Given the description of an element on the screen output the (x, y) to click on. 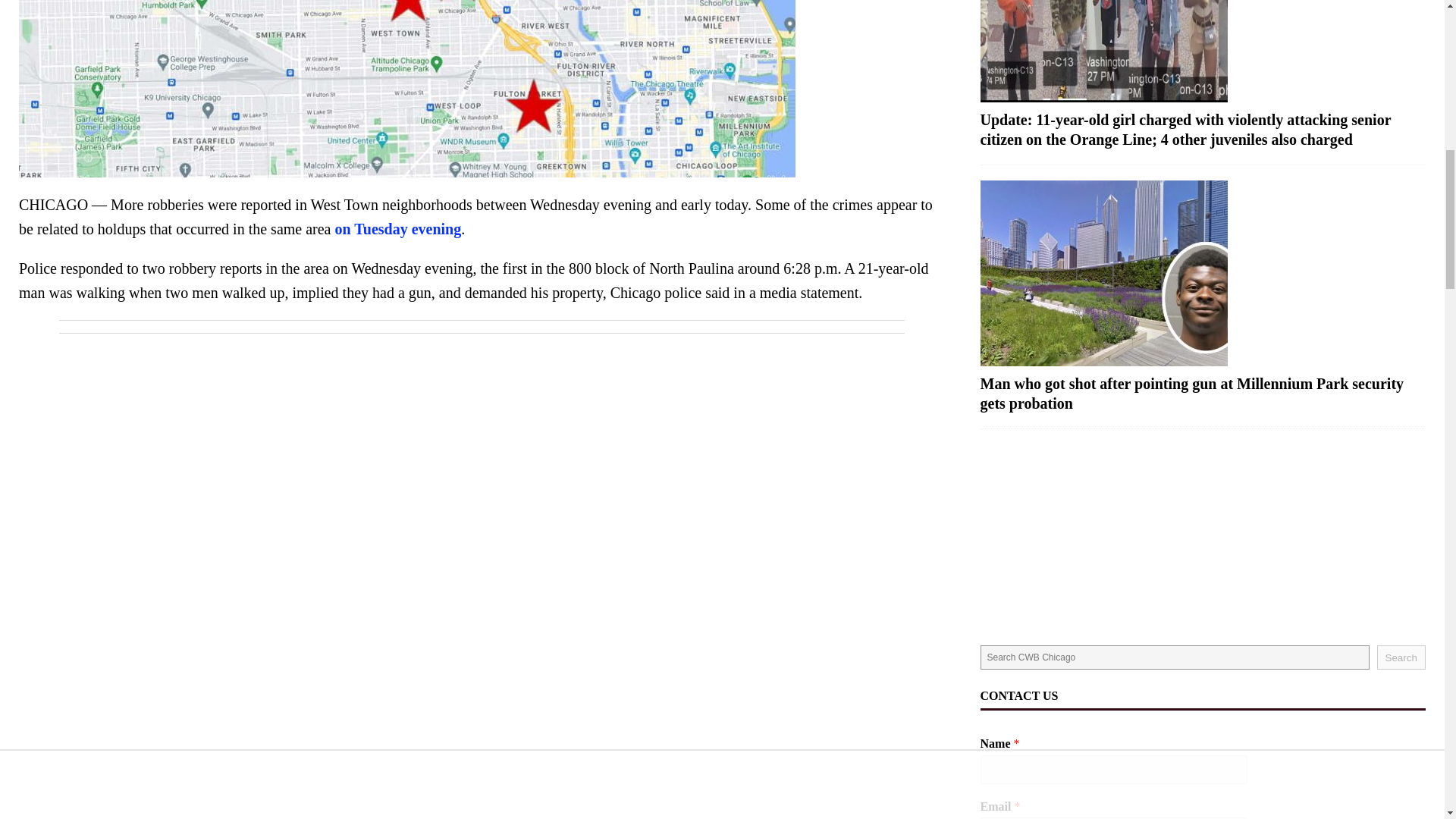
Search (1401, 657)
on Tuesday evening (397, 228)
